Given the description of an element on the screen output the (x, y) to click on. 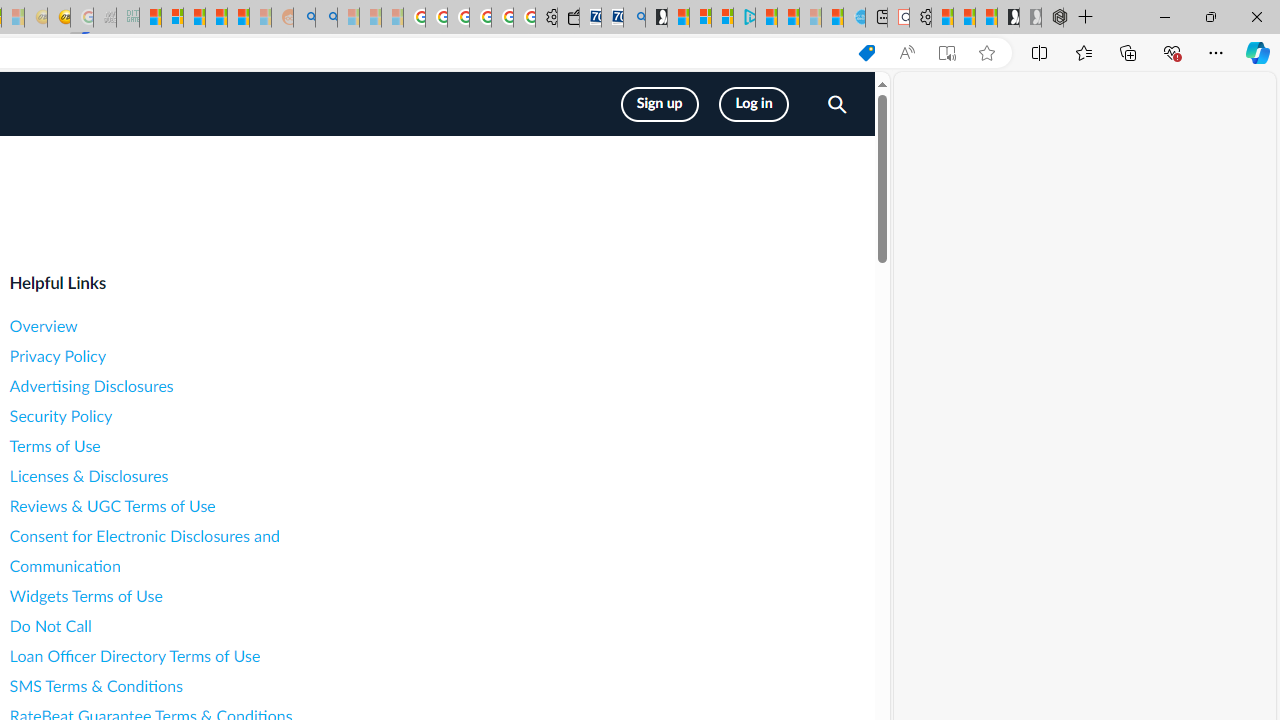
Student Loan Update: Forgiveness Program Ends This Month (238, 17)
Sign up (659, 104)
Terms of Use (188, 446)
Security Policy (188, 416)
